Given the description of an element on the screen output the (x, y) to click on. 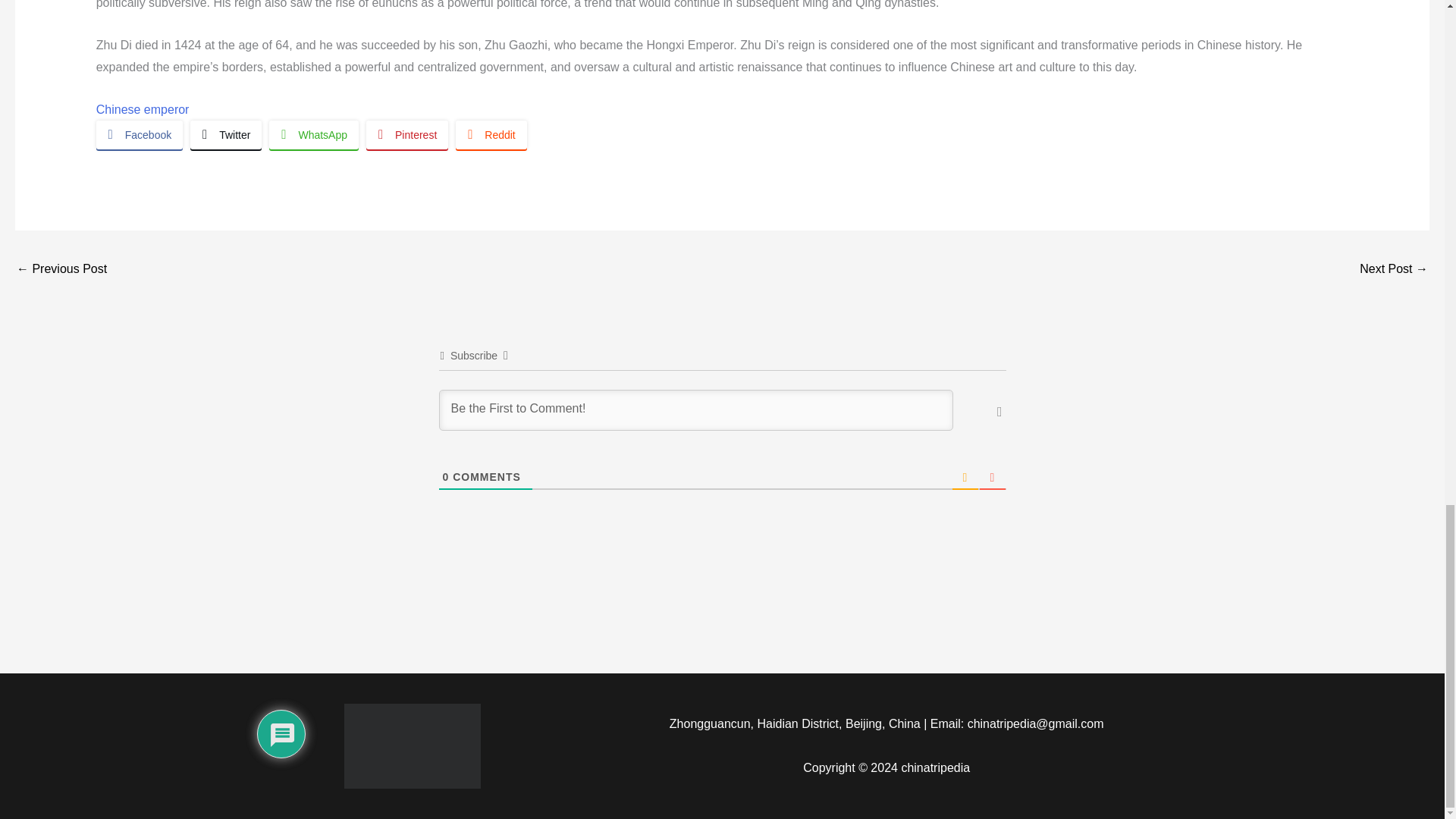
0 (445, 476)
6 things to do in Jingshan Park (1393, 270)
6 things to do in Beihai Park (61, 270)
